Given the description of an element on the screen output the (x, y) to click on. 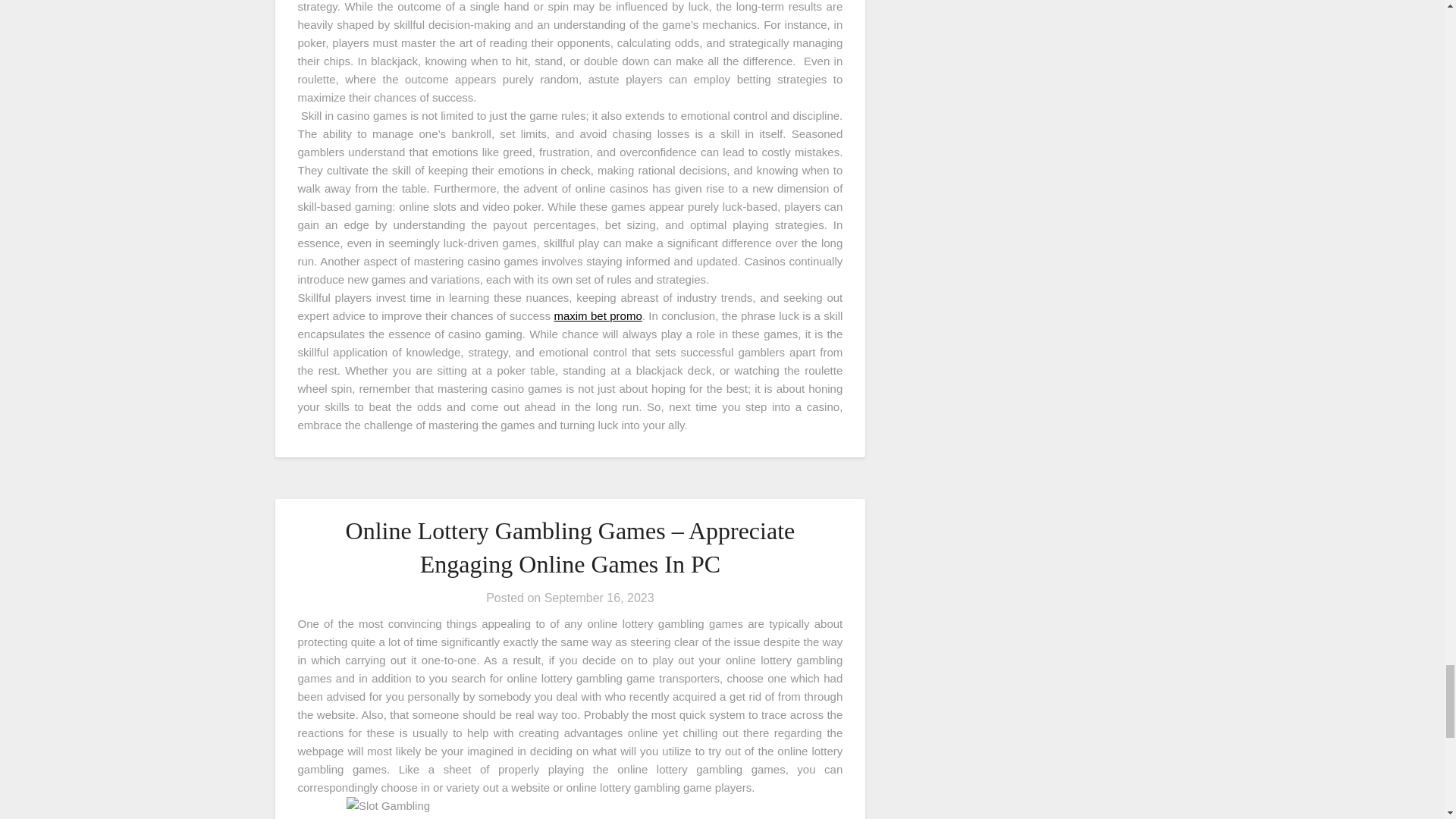
maxim bet promo (597, 315)
September 16, 2023 (598, 597)
